Given the description of an element on the screen output the (x, y) to click on. 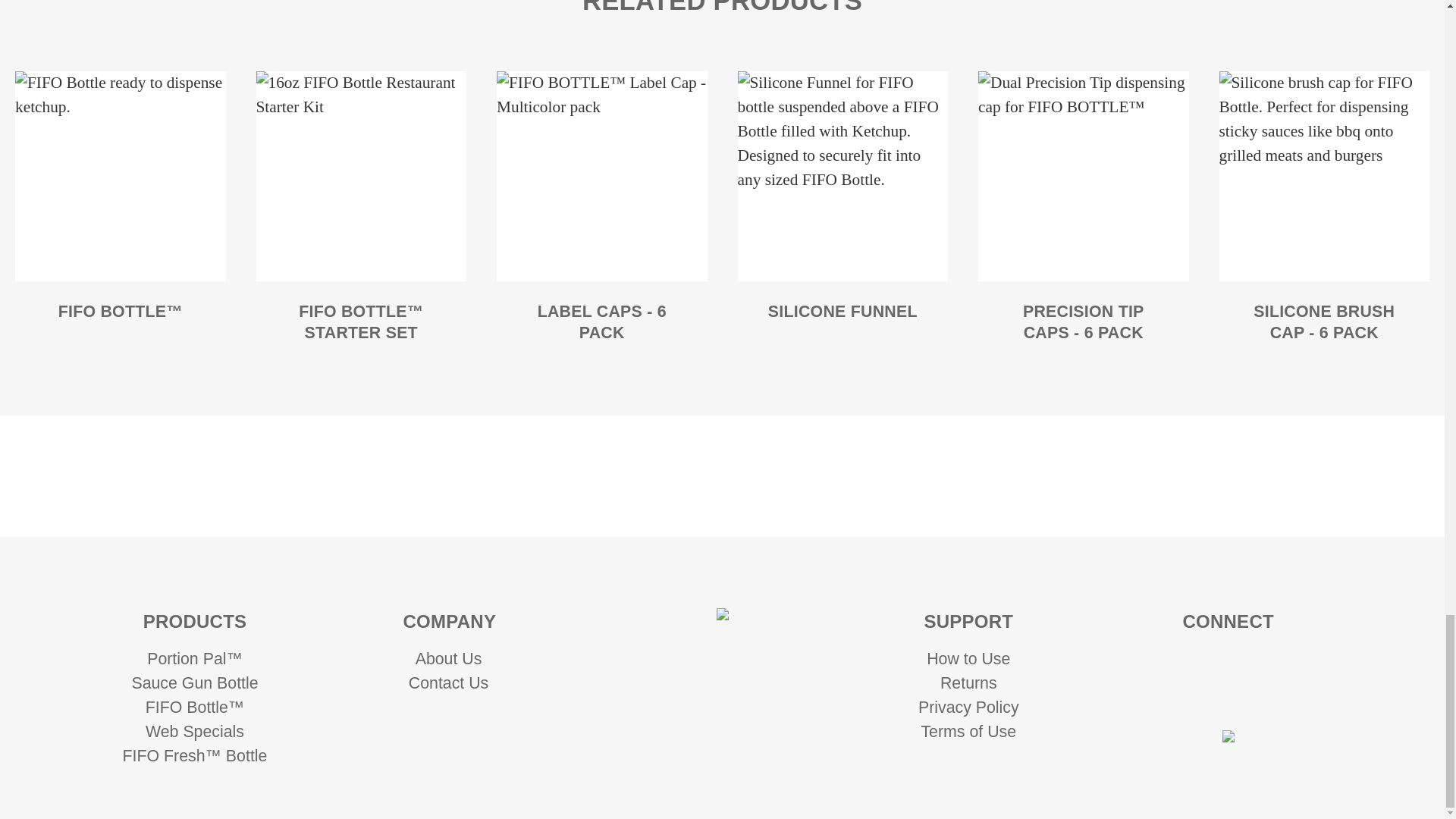
X (1250, 696)
Facebook (1205, 696)
FIFO Bottle ready to dispense ketchup. (119, 176)
Instagram (1183, 664)
16oz FIFO Bottle Restaurant Starter Kit (361, 176)
Linkedin (1228, 664)
Youtube (1272, 664)
